Given the description of an element on the screen output the (x, y) to click on. 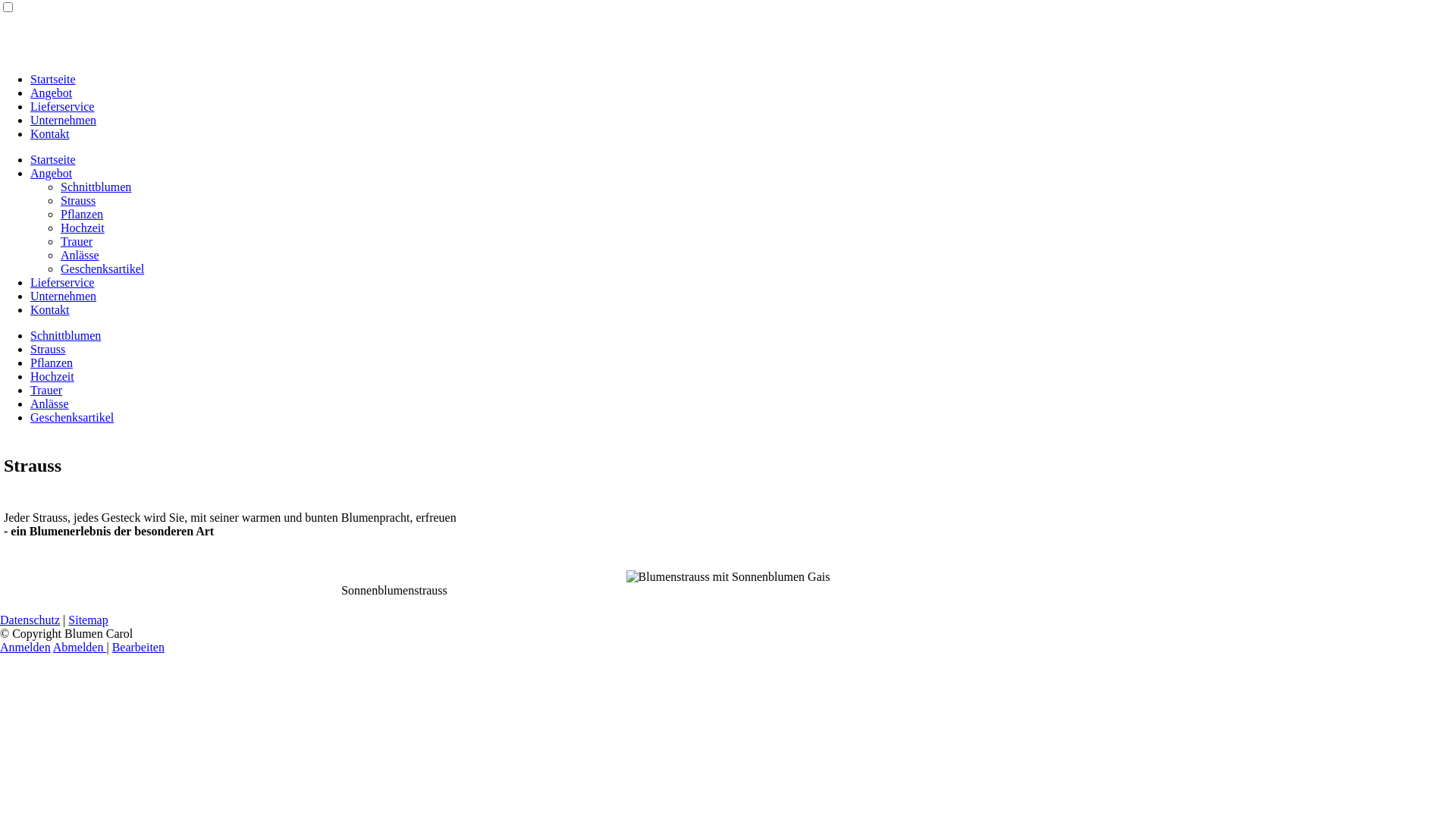
Angebot Element type: text (51, 172)
Unternehmen Element type: text (63, 295)
Kontakt Element type: text (49, 309)
Lieferservice Element type: text (62, 106)
Pflanzen Element type: text (81, 213)
Kontakt Element type: text (49, 133)
Datenschutz Element type: text (29, 619)
Angebot Element type: text (51, 92)
Strauss Element type: text (77, 200)
Strauss Element type: text (47, 348)
Anmelden Element type: text (25, 646)
Pflanzen Element type: text (51, 362)
Trauer Element type: text (46, 389)
Hochzeit Element type: text (82, 227)
Unternehmen Element type: text (63, 119)
Bearbeiten Element type: text (138, 646)
Startseite Element type: text (52, 78)
Hochzeit Element type: text (52, 376)
Geschenksartikel Element type: text (71, 417)
Abmelden Element type: text (79, 646)
Trauer Element type: text (76, 241)
Sitemap Element type: text (87, 619)
Lieferservice Element type: text (62, 282)
Schnittblumen Element type: text (95, 186)
Schnittblumen Element type: text (65, 335)
Geschenksartikel Element type: text (102, 268)
Startseite Element type: text (52, 159)
